Given the description of an element on the screen output the (x, y) to click on. 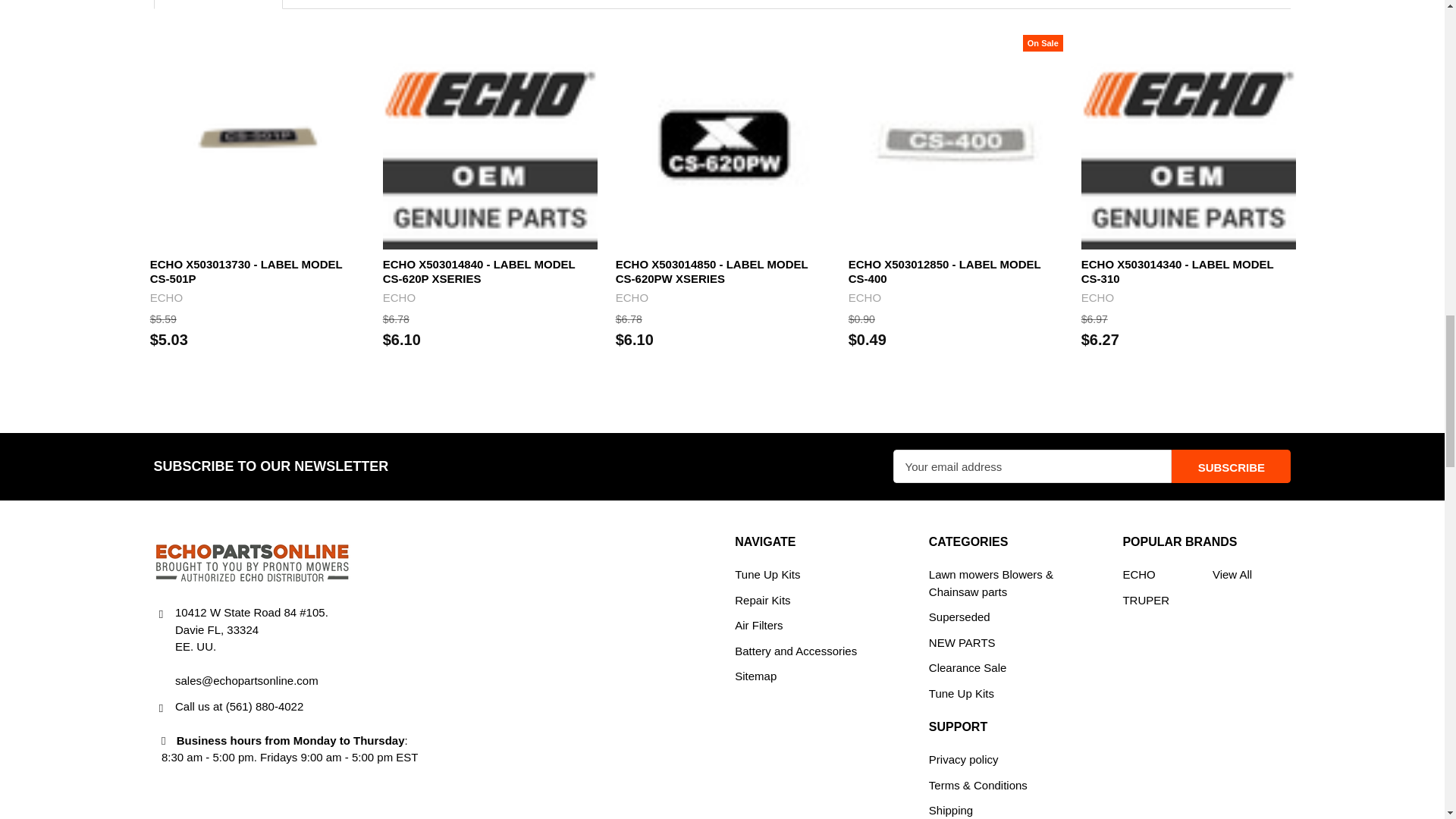
ECHO X503014850 - LABEL MODEL CS-620PW XSERIES (722, 142)
Subscribe (1231, 466)
ECHO X503012850 - LABEL MODEL CS-400 - Image 1 (955, 142)
ECHO X503014340 - LABEL MODEL CS-310 - Image 1 (1188, 142)
ECHO X503014840 - LABEL MODEL CS-620P XSERIES - Image 1 (489, 142)
ECHO X503013730 - LABEL MODEL CS-501P (257, 142)
ECHO PARTS ONLINE (251, 560)
